Given the description of an element on the screen output the (x, y) to click on. 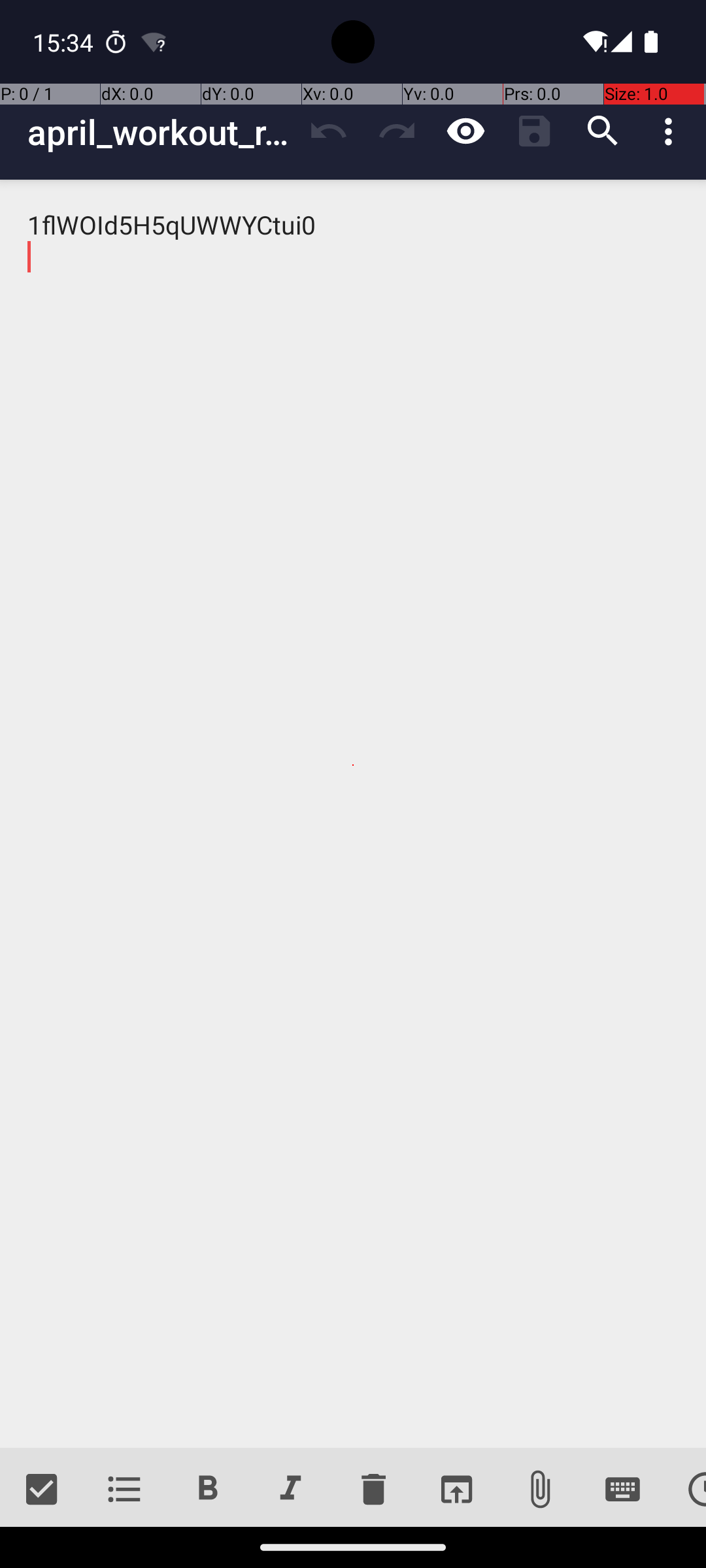
april_workout_routine_copy Element type: android.widget.TextView (160, 131)
1flWOId5H5qUWWYCtui0
 Element type: android.widget.EditText (353, 813)
